Given the description of an element on the screen output the (x, y) to click on. 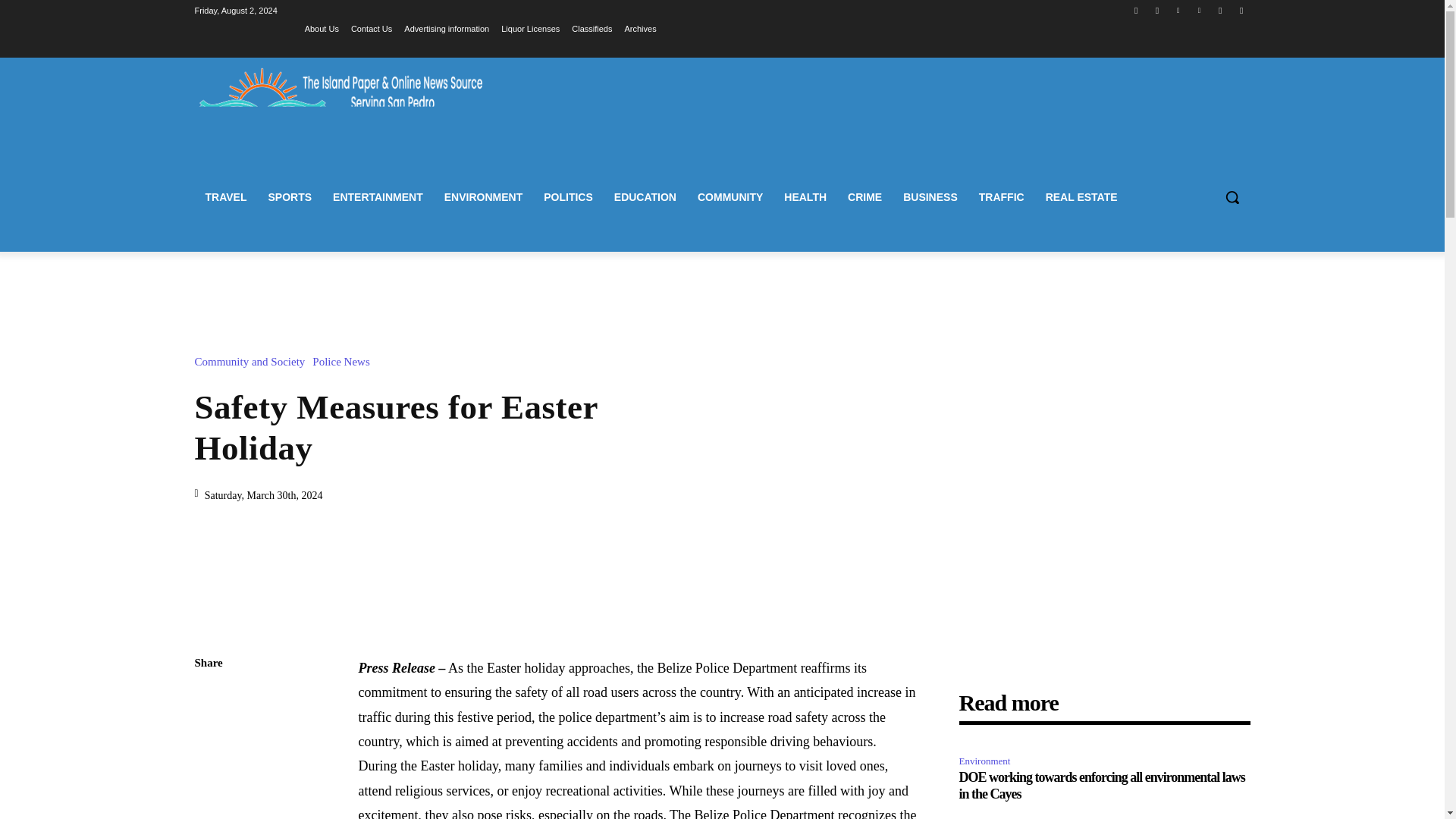
TRAVEL (225, 197)
Facebook (1135, 9)
Pinterest (1199, 9)
TRAFFIC (1001, 197)
POLITICS (568, 197)
CRIME (864, 197)
Instagram (1157, 9)
Archives (640, 28)
Youtube (1241, 9)
Classifieds (591, 28)
COMMUNITY (730, 197)
Liquor Licenses (529, 28)
Linkedin (1177, 9)
Advertising information (446, 28)
HEALTH (805, 197)
